Given the description of an element on the screen output the (x, y) to click on. 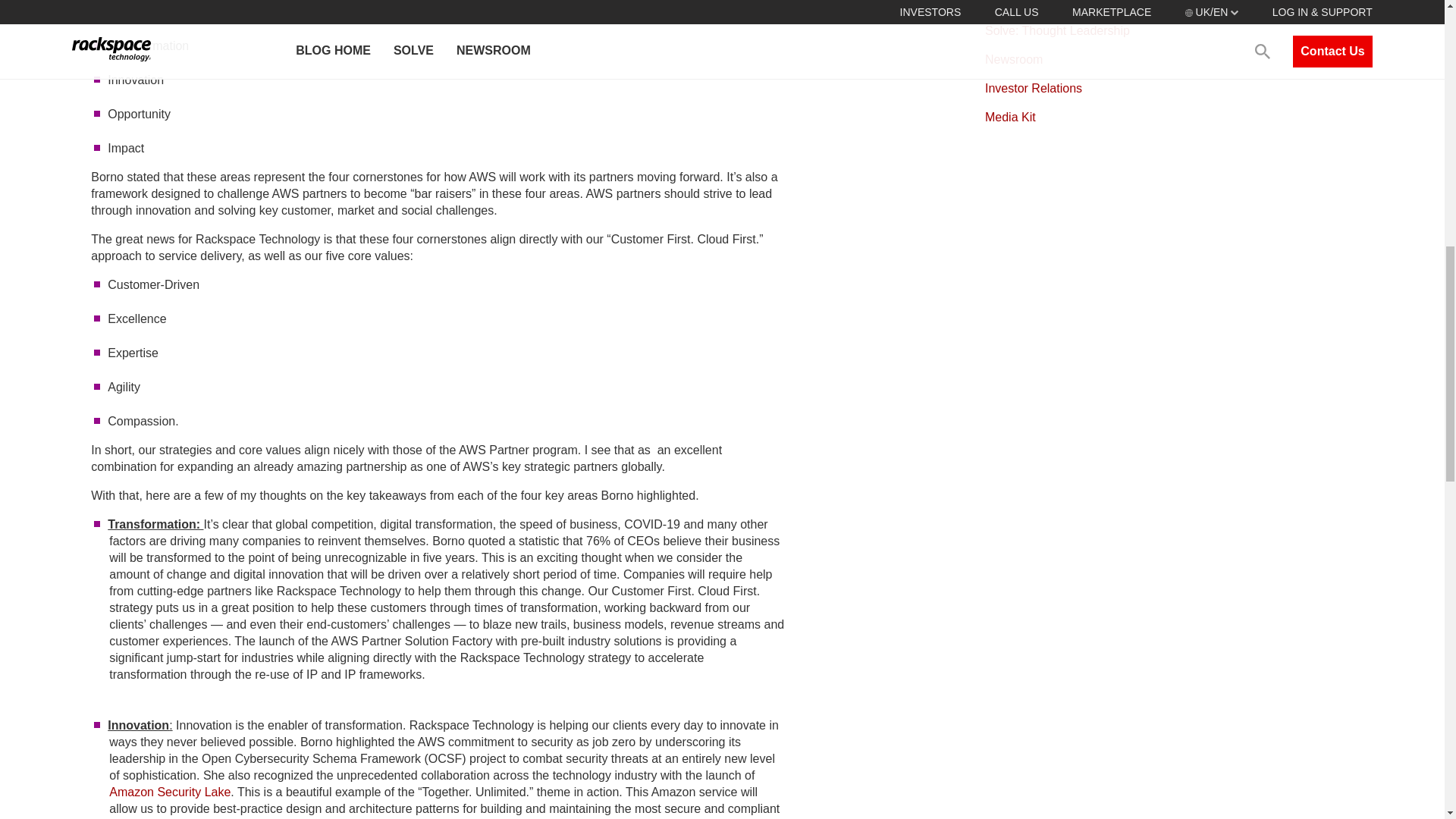
Amazon Security Lake (169, 791)
Blog Home (1015, 4)
Solve: Thought Leadership (1057, 30)
Newsroom (1013, 59)
Investor Relations (1033, 88)
Media Kit (1010, 116)
